Given the description of an element on the screen output the (x, y) to click on. 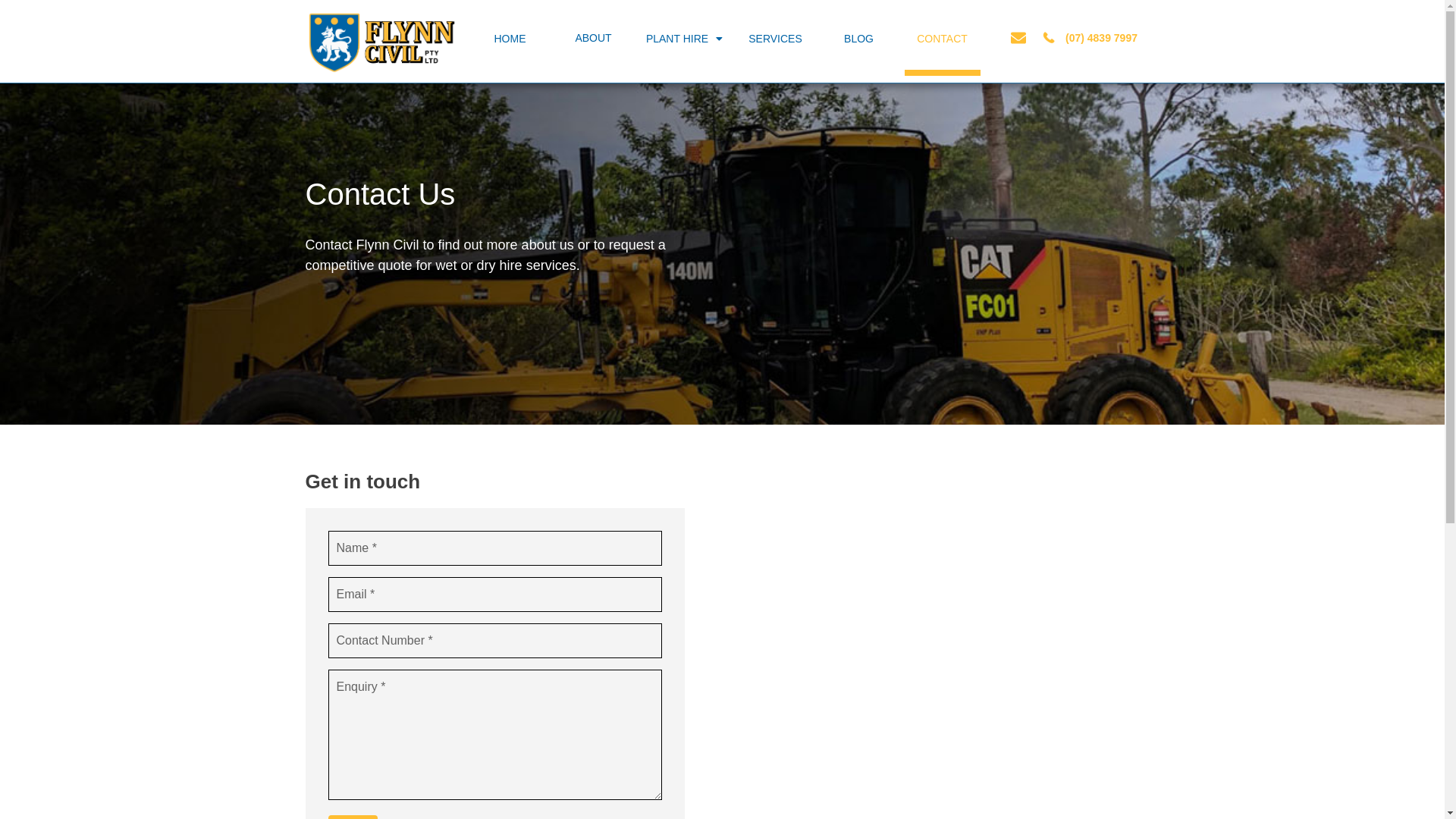
HOME Element type: text (509, 38)
ABOUT Element type: text (592, 37)
CONTACT Element type: text (941, 41)
PLANT HIRE Element type: text (683, 38)
SERVICES Element type: text (774, 38)
BLOG Element type: text (858, 38)
(07) 4839 7997 Element type: text (1101, 37)
